Given the description of an element on the screen output the (x, y) to click on. 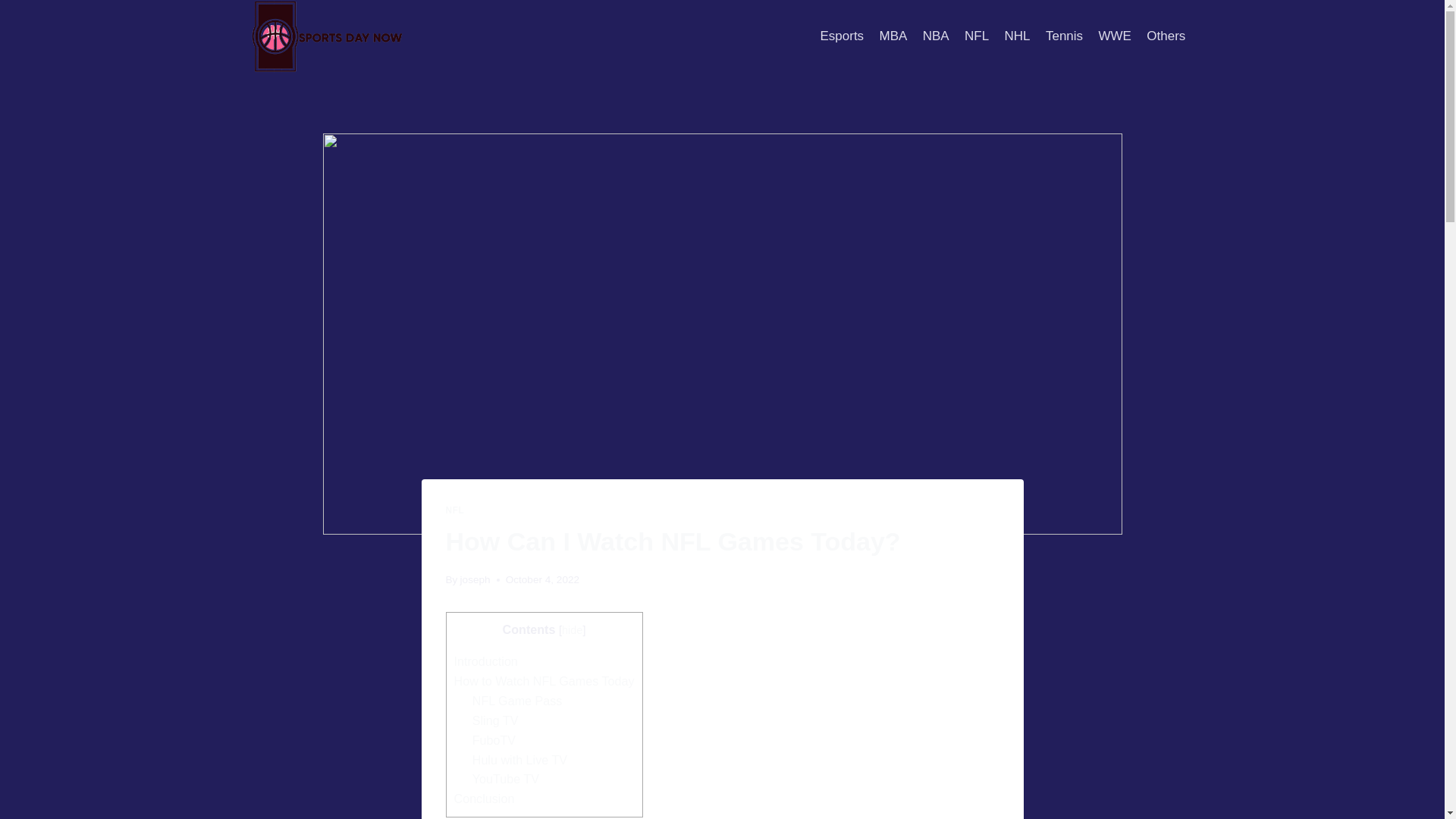
How to Watch NFL Games Today (542, 680)
Introduction (484, 661)
Tennis (1064, 36)
Others (1165, 36)
NHL (1015, 36)
Hulu with Live TV (519, 759)
Sling TV (494, 720)
joseph (475, 579)
hide (572, 630)
NFL (976, 36)
MBA (892, 36)
FuboTV (493, 739)
NFL Game Pass (516, 700)
Esports (841, 36)
WWE (1114, 36)
